Given the description of an element on the screen output the (x, y) to click on. 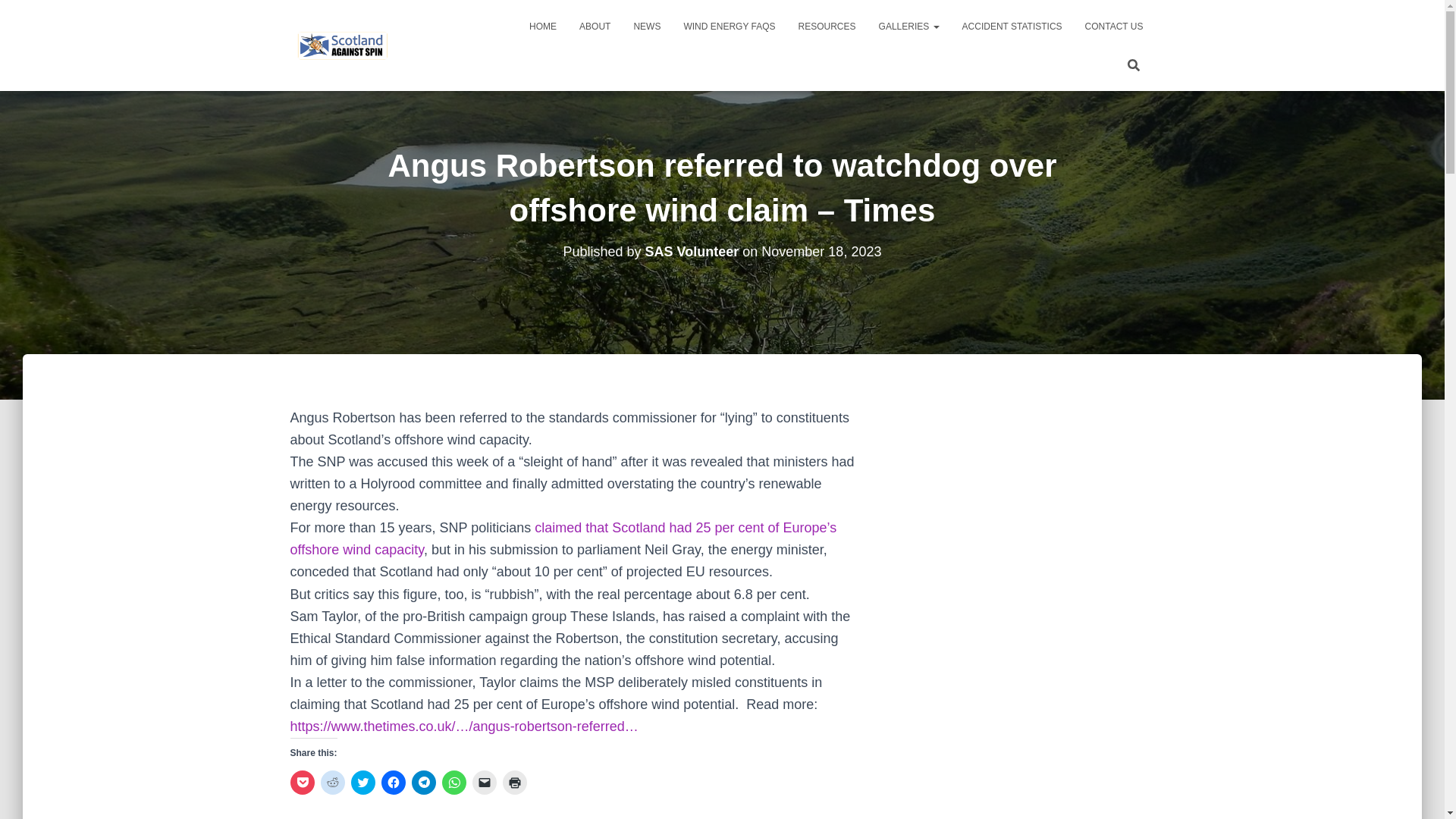
Click to share on Pocket (301, 782)
Accident Statistics (1012, 26)
Home (542, 26)
Wind Energy FAQs (728, 26)
CONTACT US (1114, 26)
News (646, 26)
Galleries (908, 26)
Contact Us (1114, 26)
Click to share on Twitter (362, 782)
ACCIDENT STATISTICS (1012, 26)
Click to share on Facebook (392, 782)
HOME (542, 26)
SAS Volunteer (692, 251)
GALLERIES (908, 26)
RESOURCES (827, 26)
